Given the description of an element on the screen output the (x, y) to click on. 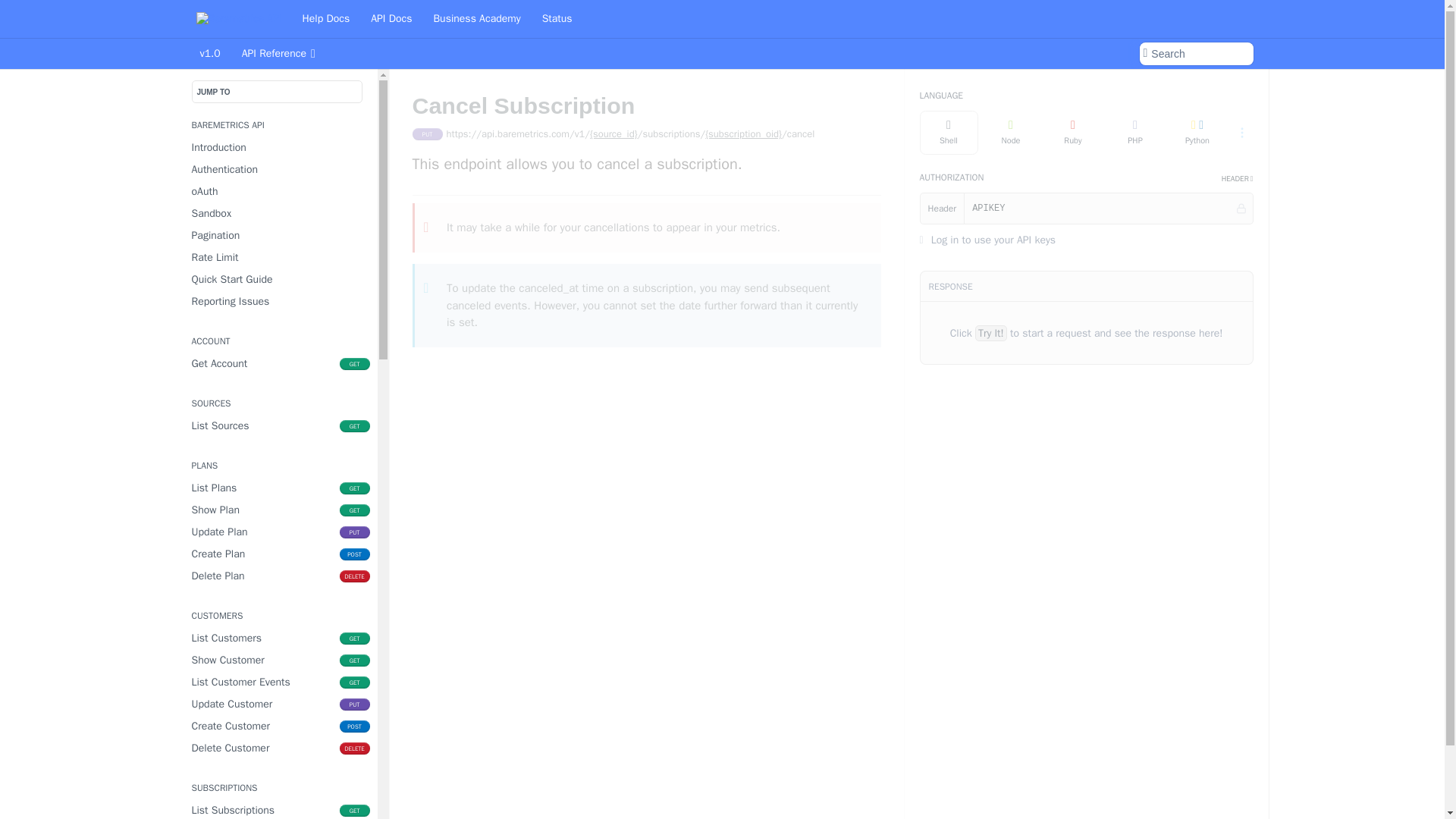
Authentication (277, 703)
API Reference (277, 553)
APIKEY (277, 660)
